Given the description of an element on the screen output the (x, y) to click on. 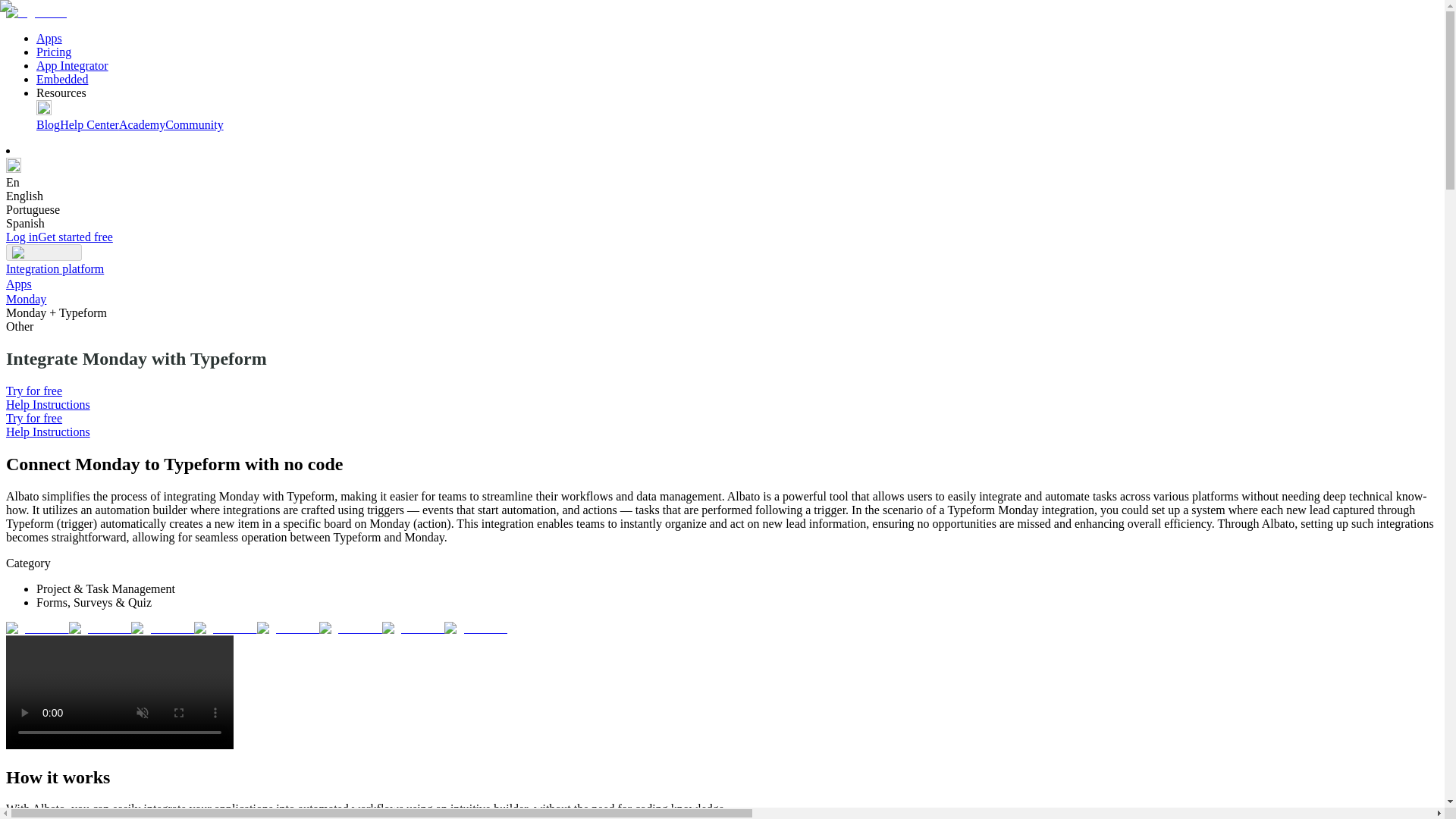
Apps (49, 38)
Community (193, 124)
Apps (18, 283)
Help Instructions (47, 404)
Get started free (75, 236)
Pricing (53, 51)
button (43, 252)
Try for free (33, 418)
Help Instructions (47, 431)
Integration platform (54, 268)
Embedded (61, 78)
Monday (25, 298)
Blog (47, 124)
Try for free (33, 390)
Academy (142, 124)
